Given the description of an element on the screen output the (x, y) to click on. 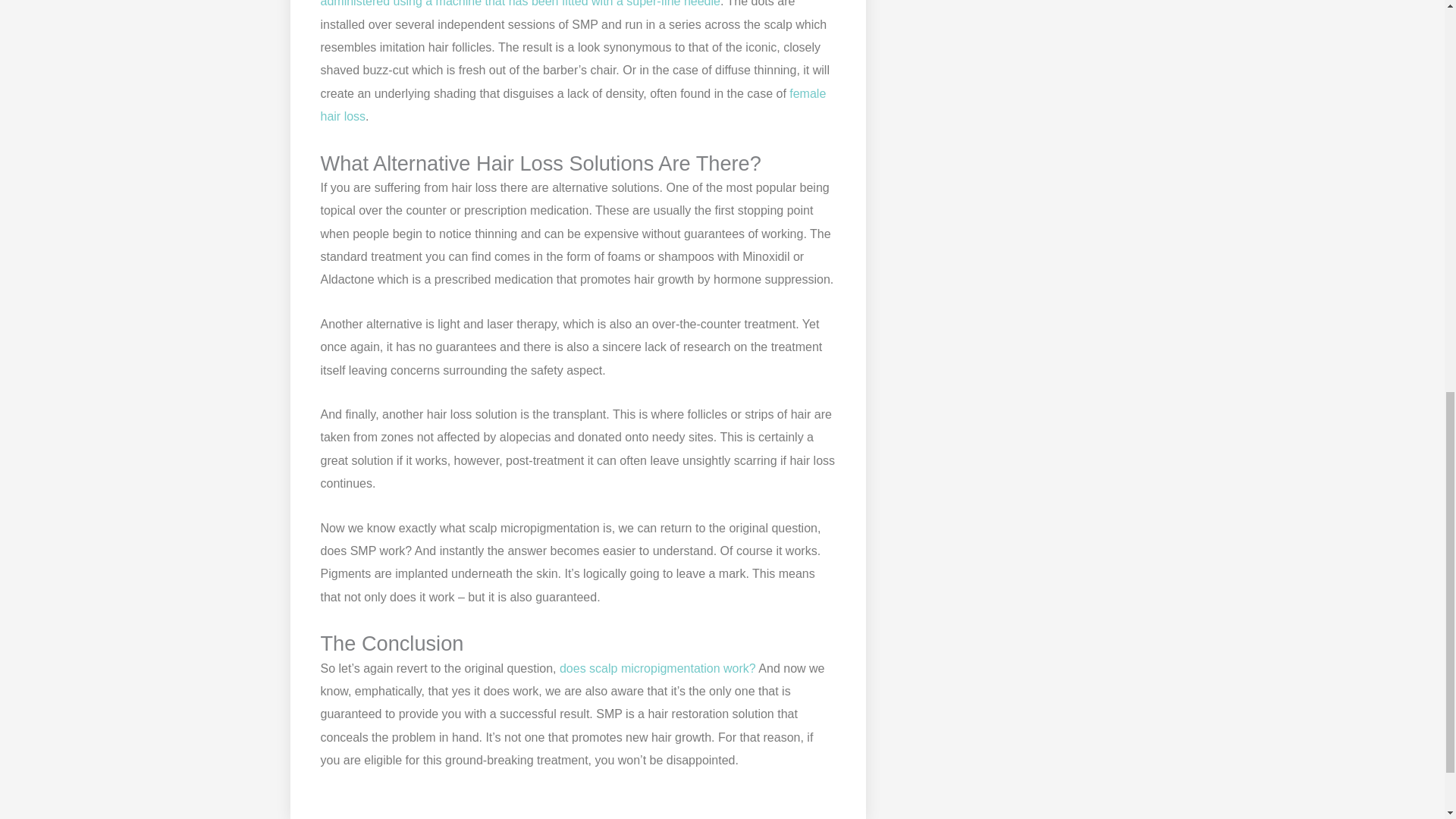
female hair loss (572, 104)
does scalp micropigmentation work? (657, 667)
